Given the description of an element on the screen output the (x, y) to click on. 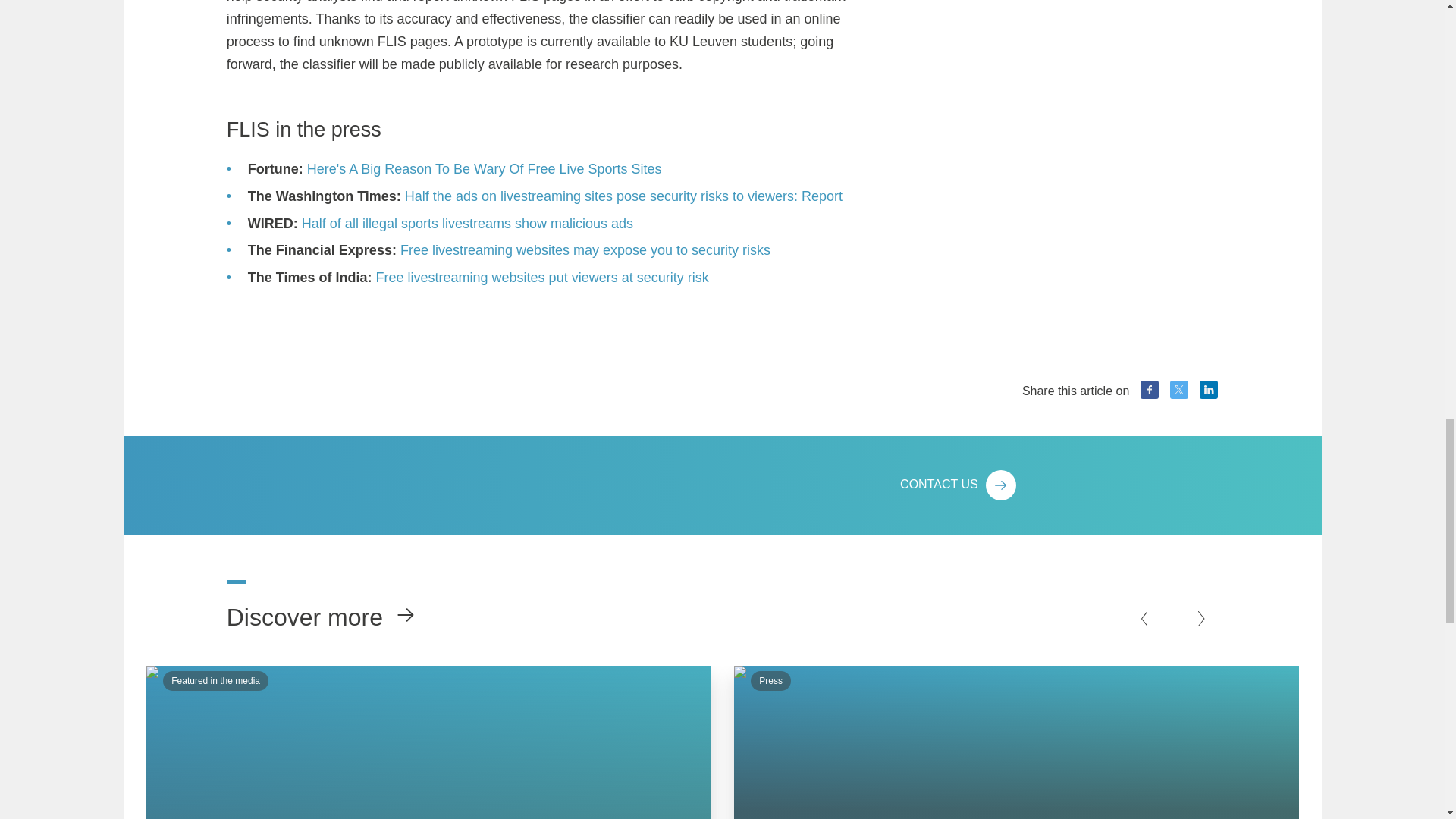
LinkedIn (1208, 389)
Free livestreaming websites put viewers at security risk (542, 277)
Half of all illegal sports livestreams show malicious ads (467, 222)
CONTACT US (1058, 485)
Free livestreaming websites may expose you to security risks (585, 250)
X (1179, 389)
Discover more (310, 607)
Facebook (1149, 389)
Here's A Big Reason To Be Wary Of Free Live Sports Sites (484, 169)
